Given the description of an element on the screen output the (x, y) to click on. 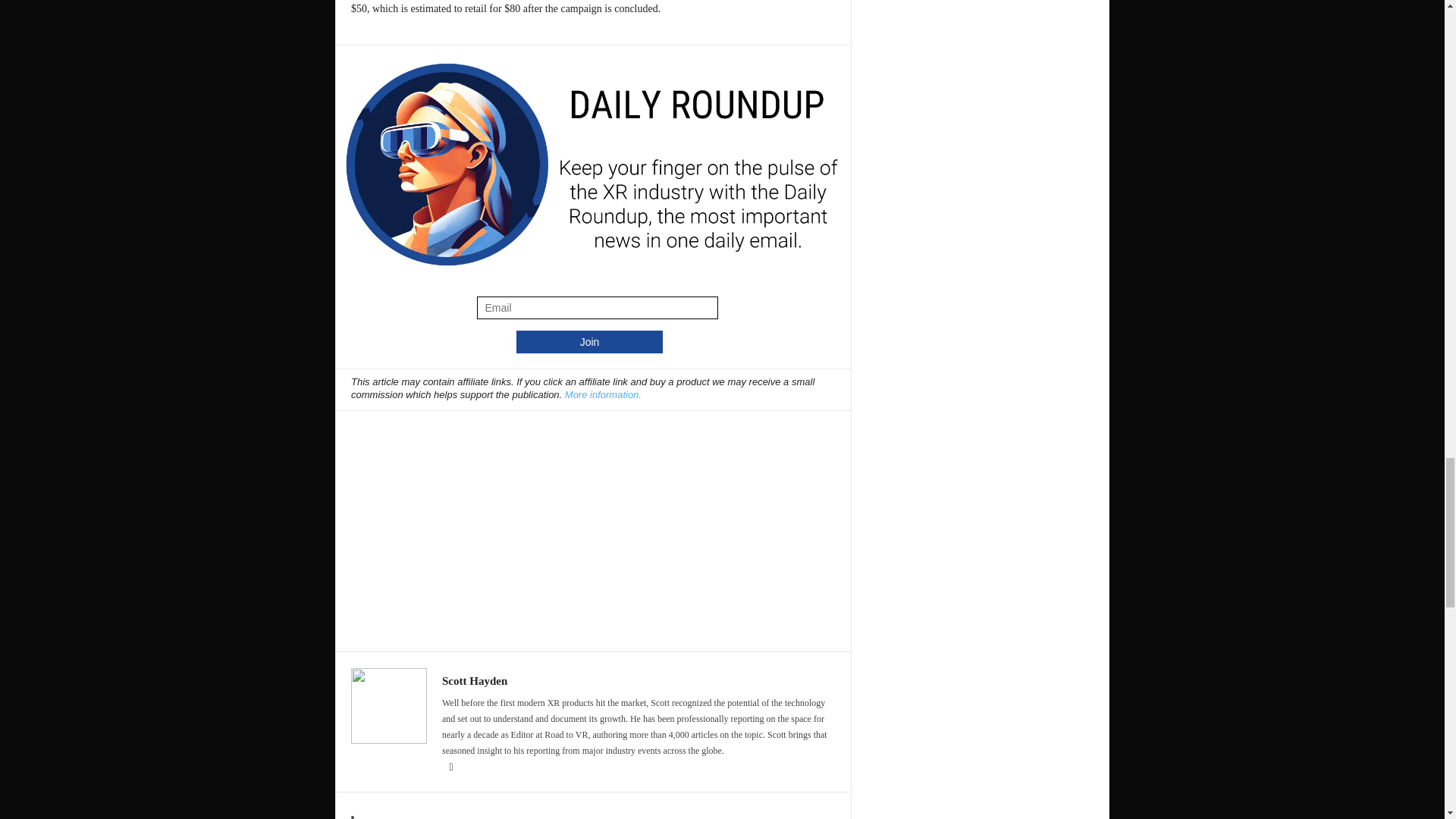
3rd party ad content (593, 523)
Join (589, 341)
